Given the description of an element on the screen output the (x, y) to click on. 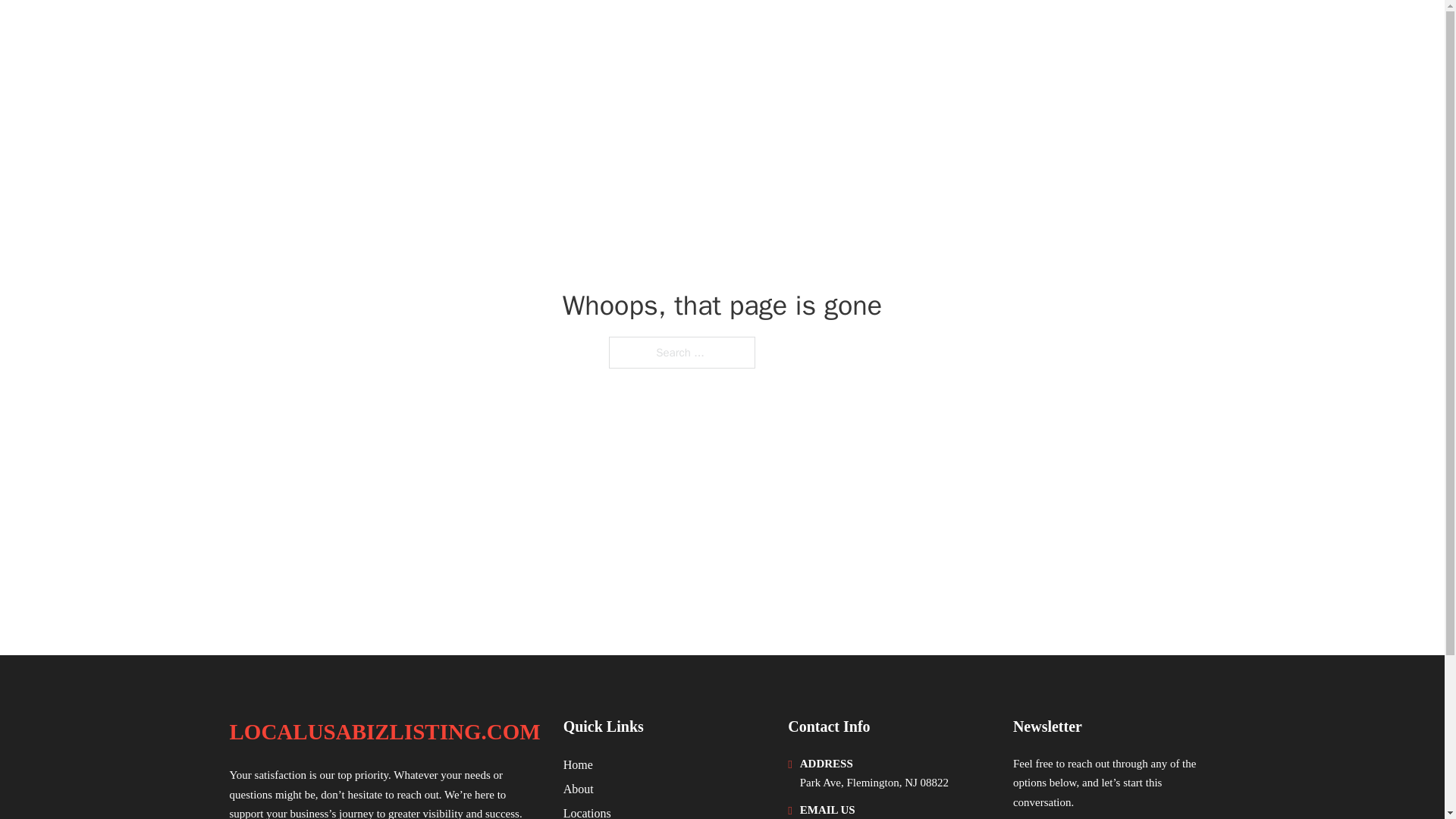
Home (577, 764)
LOCATIONS (1098, 31)
About (578, 788)
LOCALUSABIZLISTING.COM (384, 732)
Locations (587, 811)
HOME (1025, 31)
LOCALUSABIZLISTING.COM (400, 31)
